Given the description of an element on the screen output the (x, y) to click on. 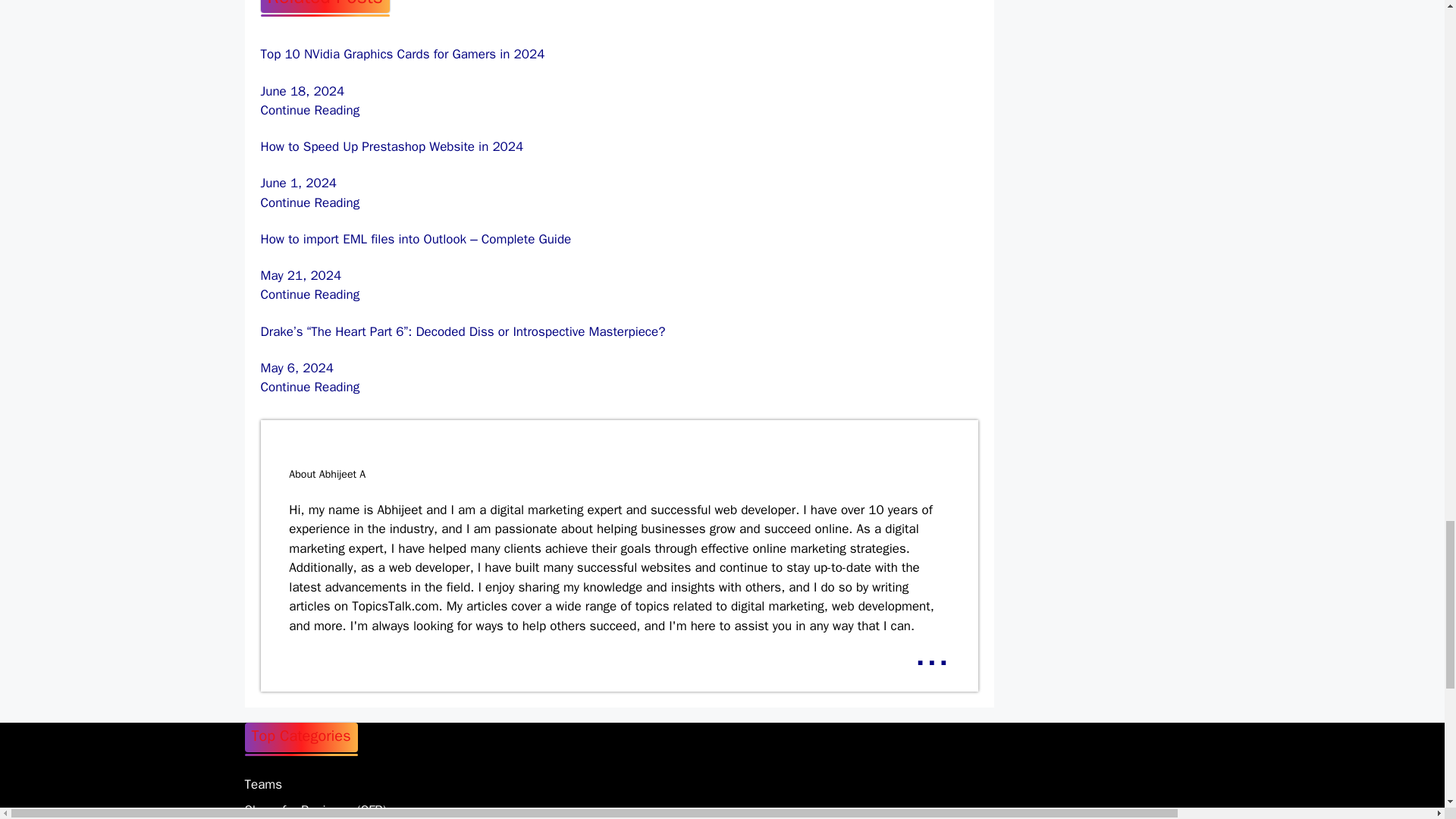
How to Speed Up Prestashop Website in 2024 (309, 202)
4:44 pm (302, 91)
5:50 pm (301, 275)
8:04 pm (297, 367)
12:46 pm (298, 182)
Read more (931, 652)
Top 10 NVidia Graphics Cards for Gamers in 2024 (309, 109)
